Given the description of an element on the screen output the (x, y) to click on. 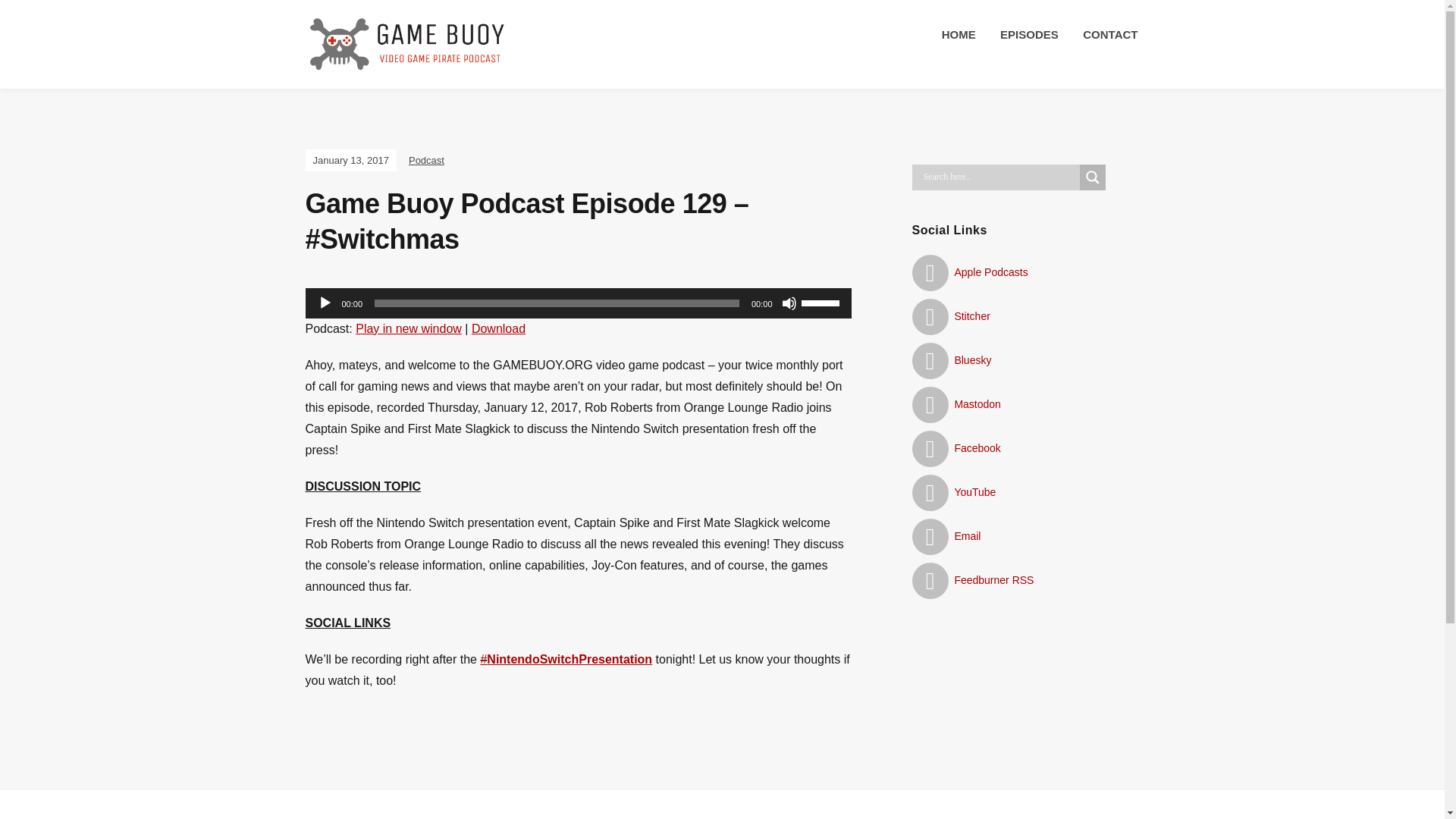
Apple Podcasts (969, 272)
Play (324, 303)
Feedburner RSS (972, 580)
Feedburner RSS (972, 580)
Apple Podcasts (969, 272)
Download (498, 328)
EPISODES (1028, 34)
YouTube (953, 491)
Facebook (955, 448)
Bluesky (951, 359)
CONTACT (1109, 34)
Email (945, 535)
Play in new window (408, 328)
Mastodon (955, 404)
Bluesky (951, 359)
